Given the description of an element on the screen output the (x, y) to click on. 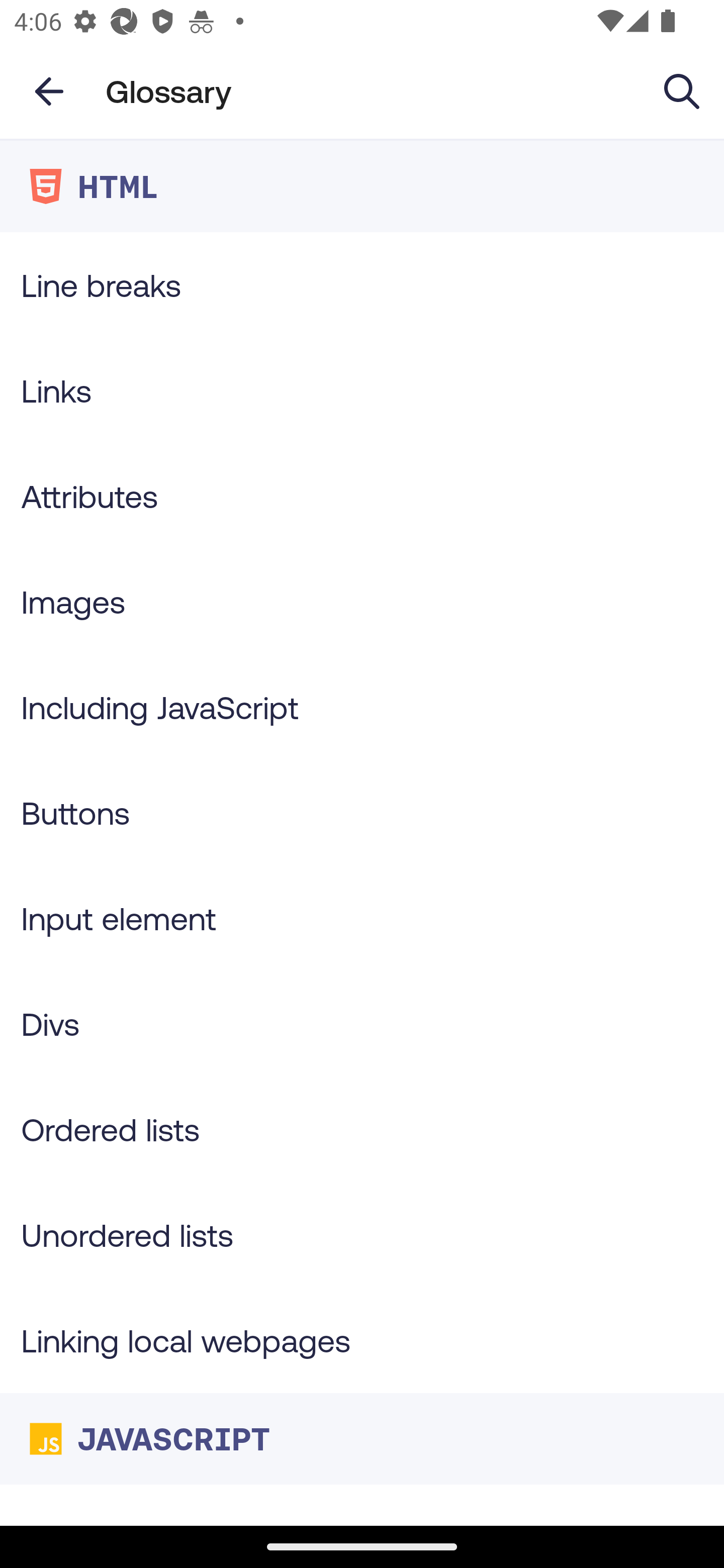
Navigate up (49, 91)
Search Glossary (681, 90)
HTML (362, 186)
Line breaks (362, 284)
Links (362, 390)
Attributes (362, 495)
Images (362, 600)
Including JavaScript (362, 706)
Buttons (362, 812)
Input element (362, 917)
Divs (362, 1023)
Ordered lists (362, 1129)
Unordered lists (362, 1234)
Linking local webpages (362, 1339)
JAVASCRIPT (362, 1438)
